Given the description of an element on the screen output the (x, y) to click on. 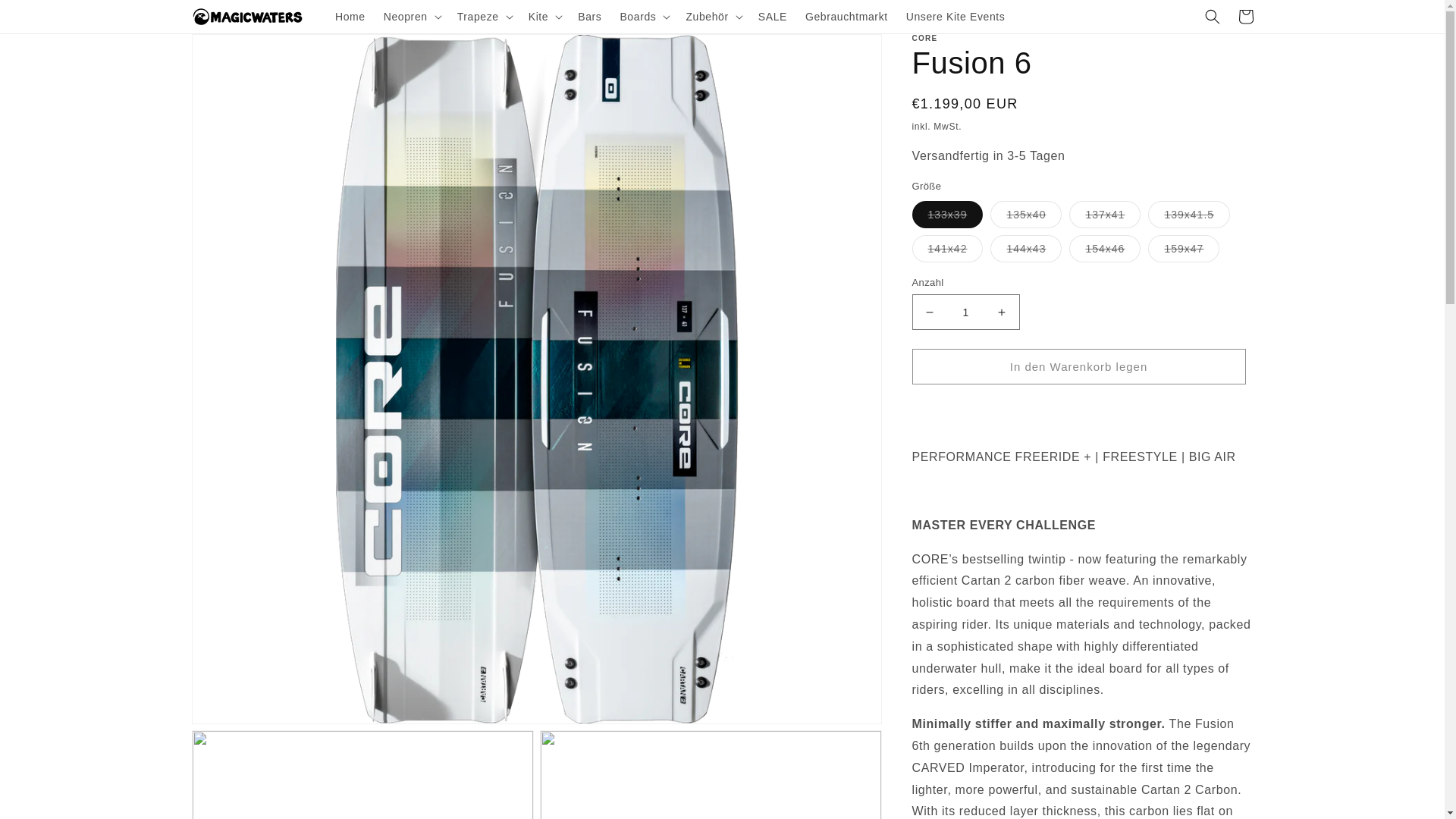
Bars (589, 16)
Home (350, 16)
1 (965, 312)
Direkt zum Inhalt (45, 17)
